Given the description of an element on the screen output the (x, y) to click on. 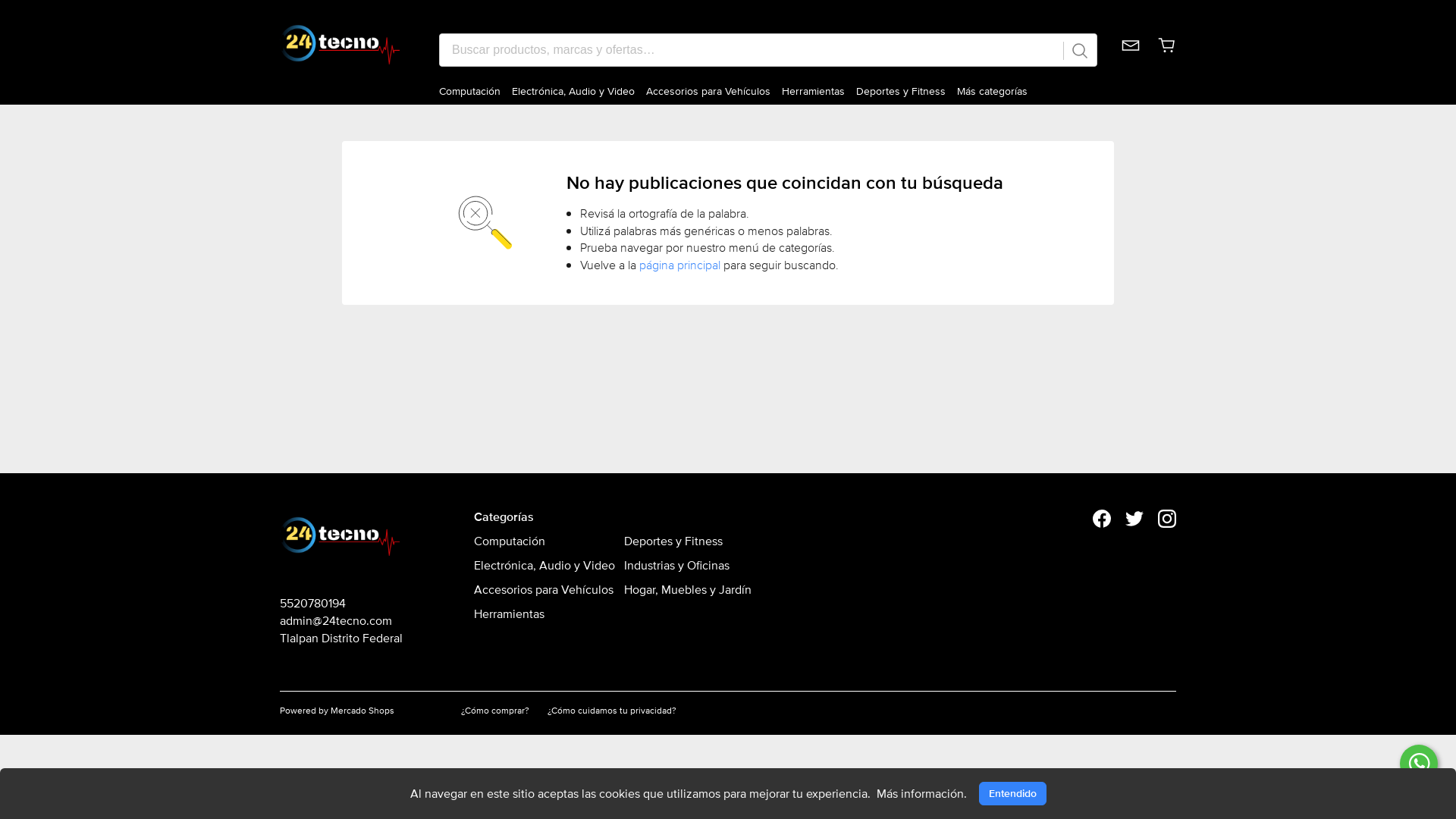
Herramientas Element type: text (544, 613)
admin@24tecno.com Element type: text (340, 620)
Herramientas Element type: text (812, 90)
Deportes y Fitness Element type: text (687, 541)
5520780194 Element type: text (340, 602)
Entendido Element type: text (1011, 793)
Industrias y Oficinas Element type: text (687, 565)
Powered by Mercado Shops Element type: text (360, 709)
Deportes y Fitness Element type: text (900, 90)
Carrito Element type: hover (1166, 57)
